Given the description of an element on the screen output the (x, y) to click on. 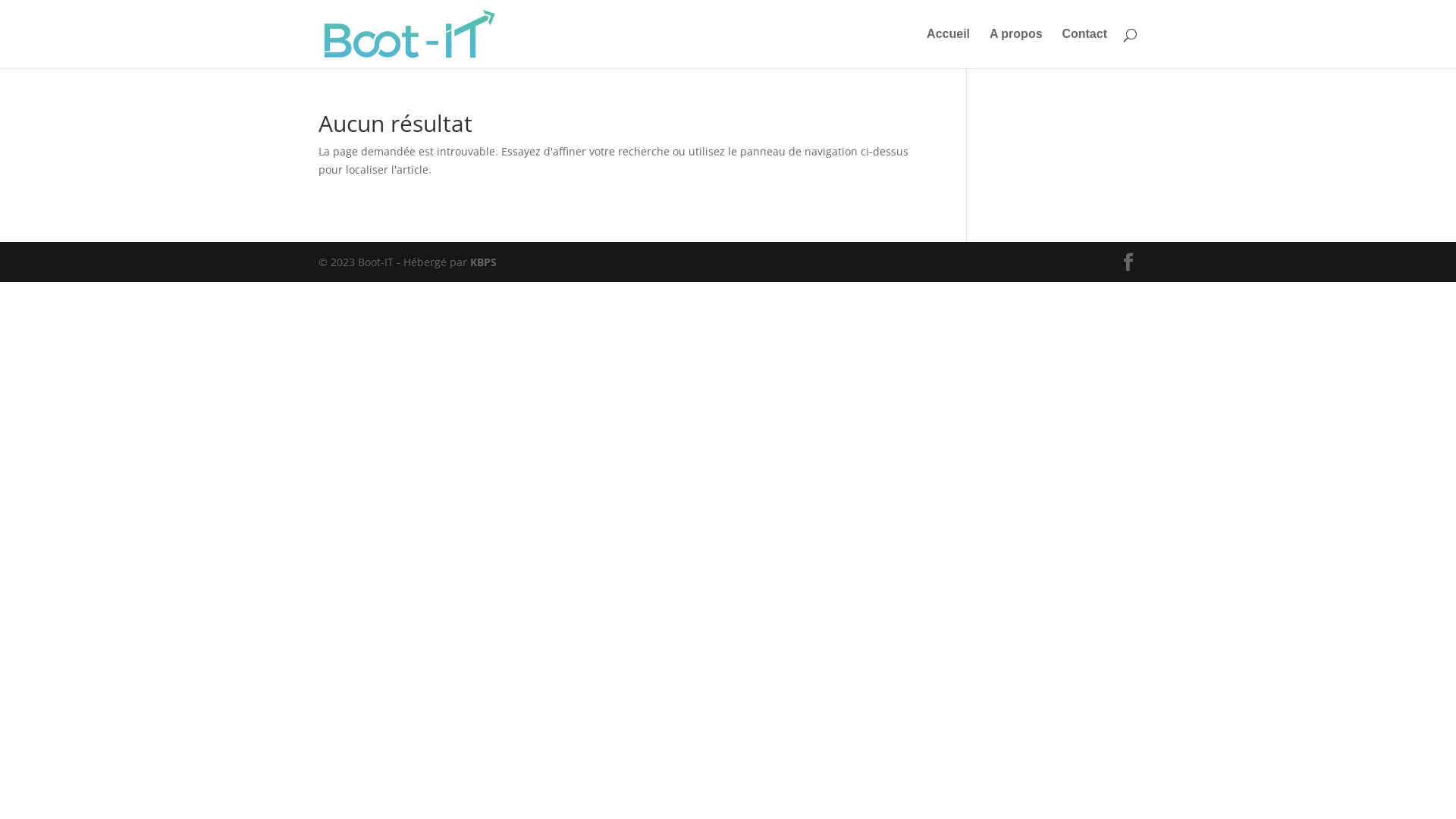
Contact Element type: text (1084, 48)
Accueil Element type: text (947, 48)
A propos Element type: text (1015, 48)
KBPS Element type: text (483, 261)
